Given the description of an element on the screen output the (x, y) to click on. 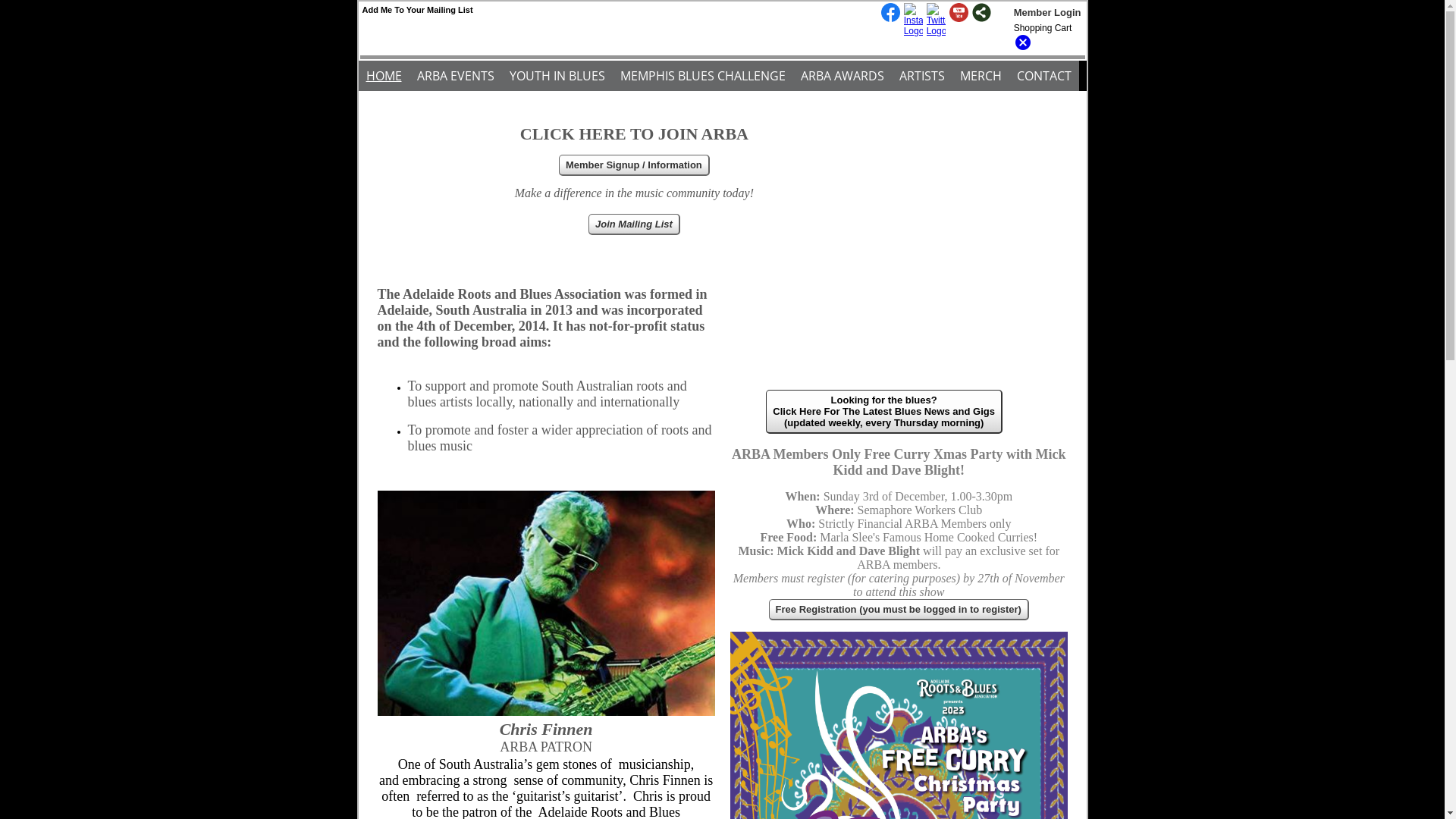
HOME Element type: text (382, 75)
Visit us on YouTube Element type: hover (958, 13)
MEMPHIS BLUES CHALLENGE Element type: text (702, 75)
YOUTH IN BLUES Element type: text (557, 75)
Visit us on Twitter Element type: hover (935, 13)
Visit us on Instagram Element type: hover (912, 13)
Member Signup / Information Element type: text (633, 164)
cancel Element type: text (1022, 48)
Add Me To Your Mailing List Element type: text (417, 9)
ARTISTS Element type: text (921, 75)
Join Mailing List Element type: text (634, 224)
Visit us on Facebook Element type: hover (890, 13)
Click here for more sharing options Element type: hover (981, 12)
CONTACT Element type: text (1043, 75)
ARBA AWARDS Element type: text (842, 75)
Member Login Element type: text (1047, 12)
ARBA EVENTS Element type: text (455, 75)
MERCH Element type: text (980, 75)
Free Registration (you must be logged in to register) Element type: text (898, 609)
